Given the description of an element on the screen output the (x, y) to click on. 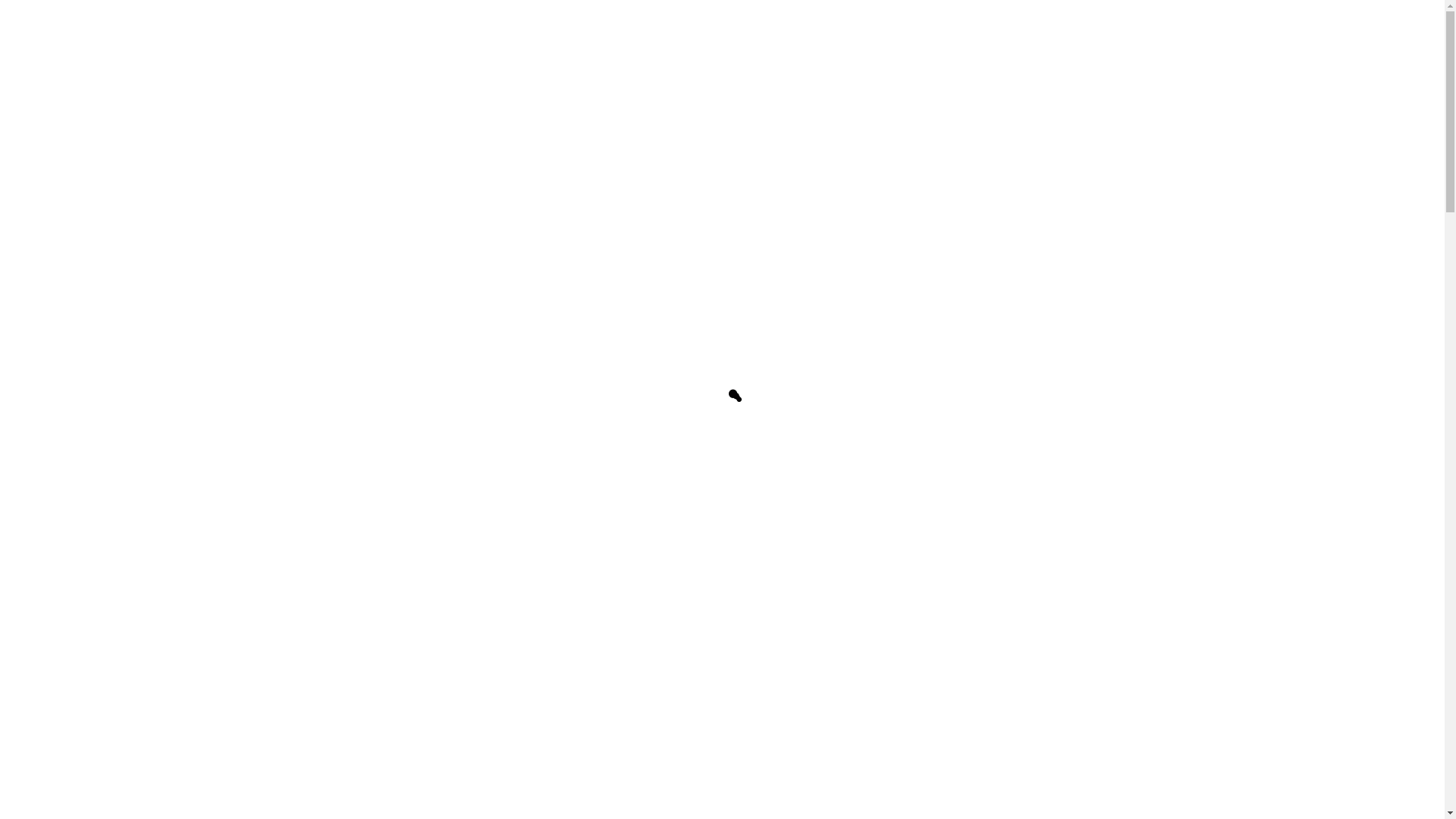
Home Element type: hover (395, 33)
Supported Employment Element type: text (779, 494)
Support Coordination and Plan Management Element type: text (835, 440)
In Home and Community Support Element type: text (806, 530)
Shared Living and Accommodation Element type: text (809, 603)
LEARN MORE Element type: text (753, 660)
Early Childhood Early Intervention Services Element type: text (827, 476)
Eurella Links Social and Community Participation Hub Element type: text (856, 512)
Therapeutic Supports Element type: text (773, 458)
Wattle-it-Bee After School and School Holiday Programs Element type: text (866, 566)
Skip to main content Element type: text (0, 0)
